Given the description of an element on the screen output the (x, y) to click on. 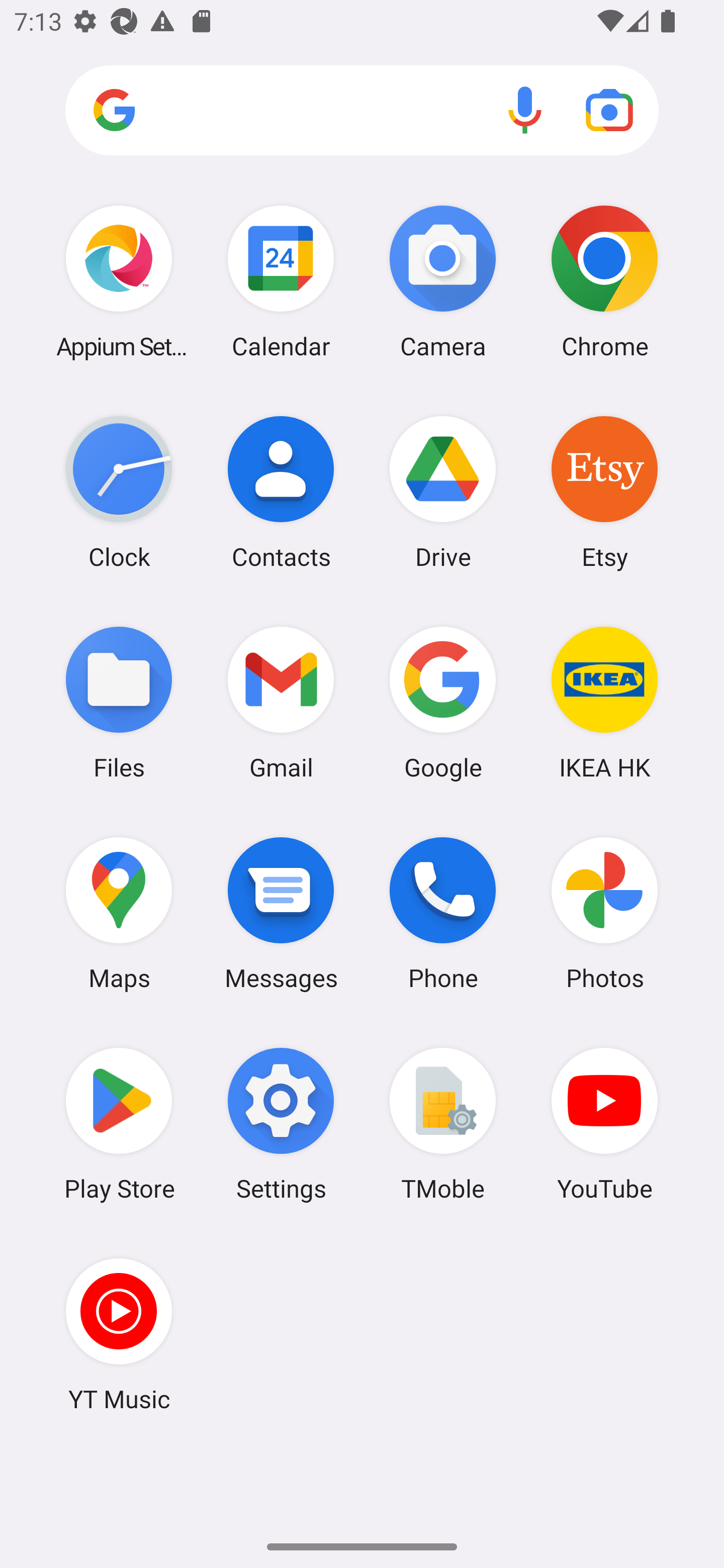
Search apps, web and more (361, 110)
Voice search (524, 109)
Google Lens (608, 109)
Appium Settings (118, 281)
Calendar (280, 281)
Camera (443, 281)
Chrome (604, 281)
Clock (118, 492)
Contacts (280, 492)
Drive (443, 492)
Etsy (604, 492)
Files (118, 702)
Gmail (280, 702)
Google (443, 702)
IKEA HK (604, 702)
Maps (118, 913)
Messages (280, 913)
Phone (443, 913)
Photos (604, 913)
Play Store (118, 1124)
Settings (280, 1124)
TMoble (443, 1124)
YouTube (604, 1124)
YT Music (118, 1334)
